Given the description of an element on the screen output the (x, y) to click on. 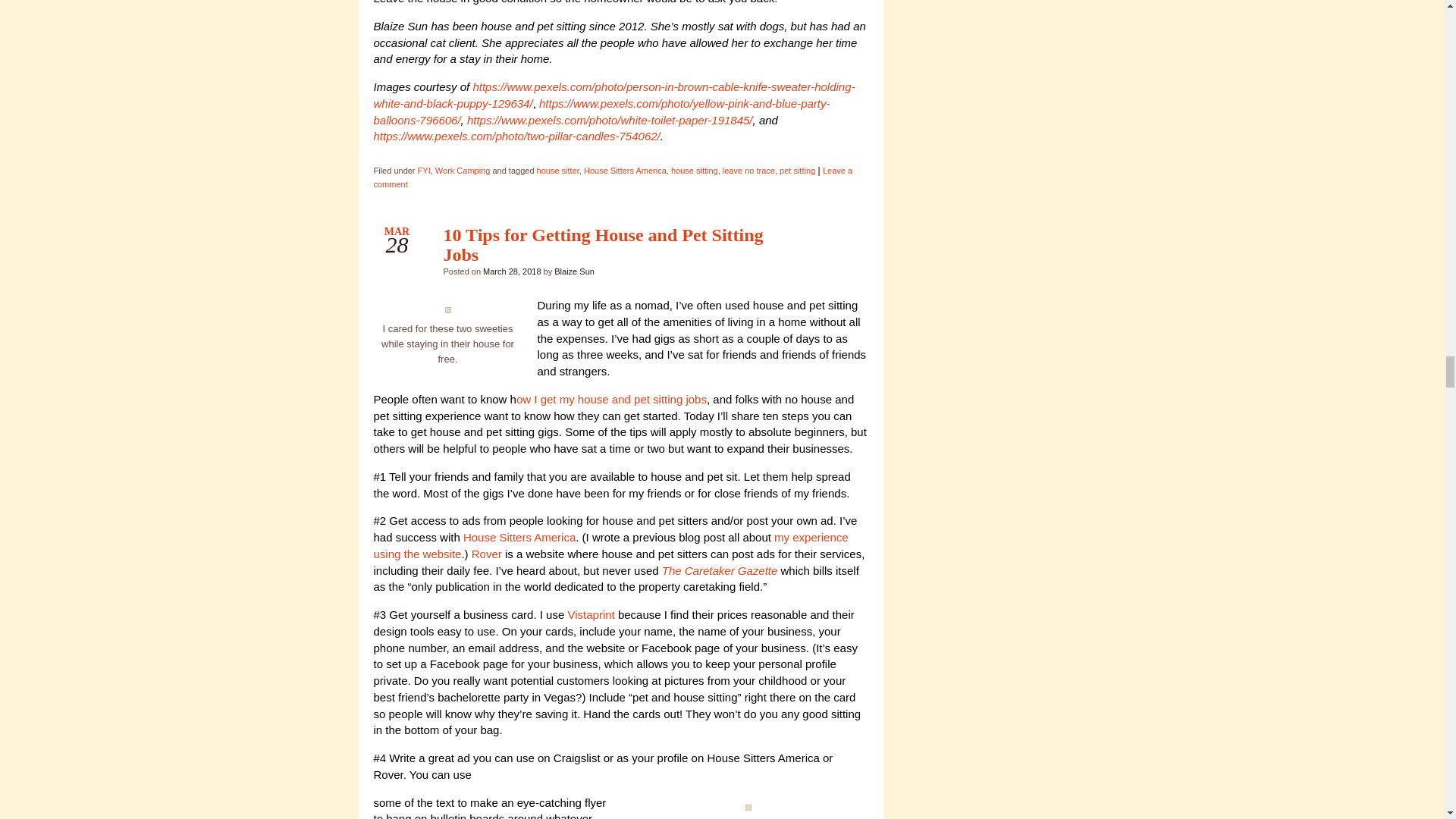
12:34 pm (511, 271)
Permalink to 10 Tips for Getting House and Pet Sitting Jobs (602, 244)
View all posts by Blaize Sun (574, 271)
All Standard posts (843, 238)
